Given the description of an element on the screen output the (x, y) to click on. 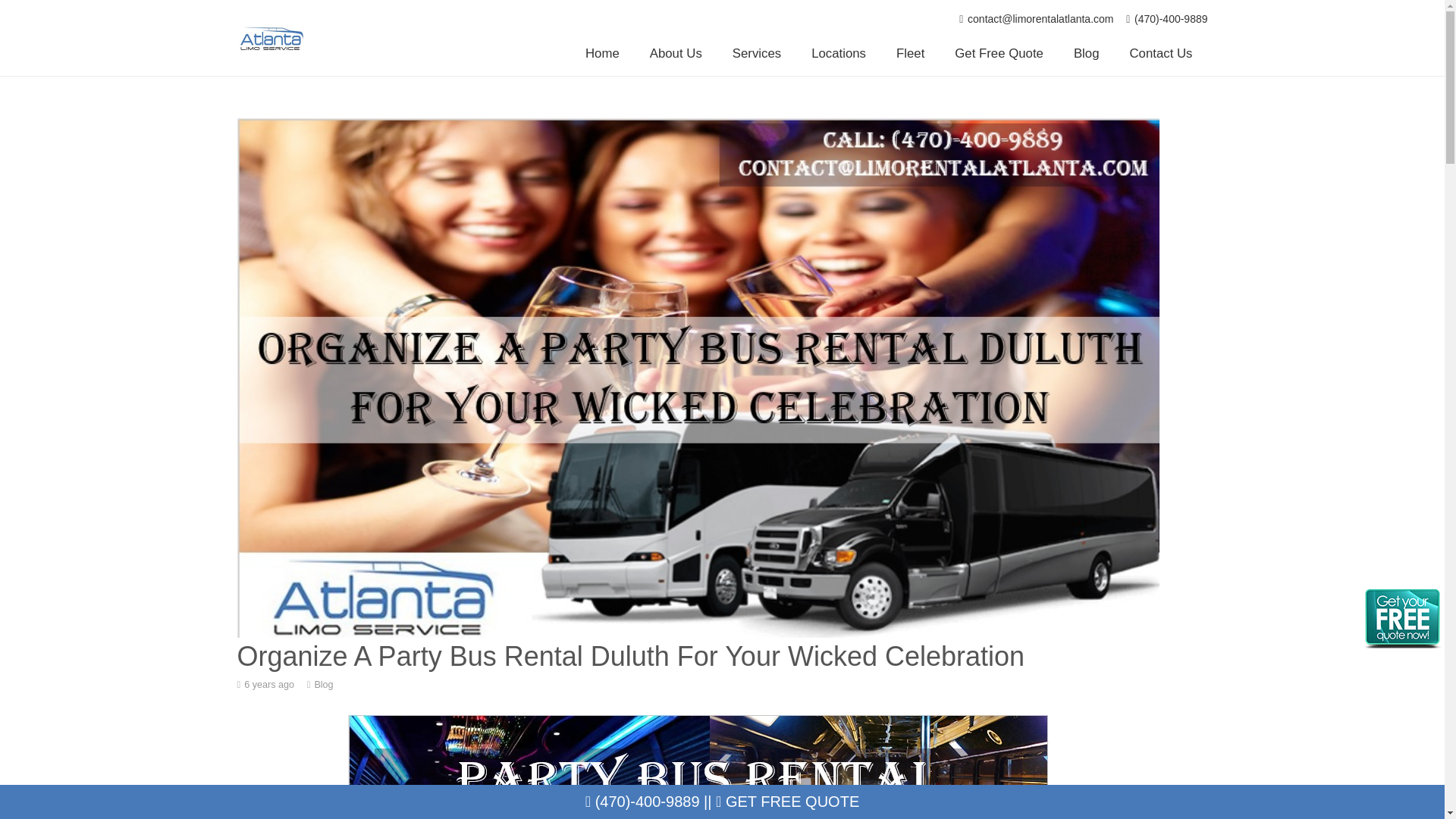
About Us (675, 53)
Fleet (909, 53)
Locations (838, 53)
Services (756, 53)
Blog (323, 684)
Contact Us (1161, 53)
Get Free Quote (998, 53)
Blog (1086, 53)
Home (602, 53)
